Given the description of an element on the screen output the (x, y) to click on. 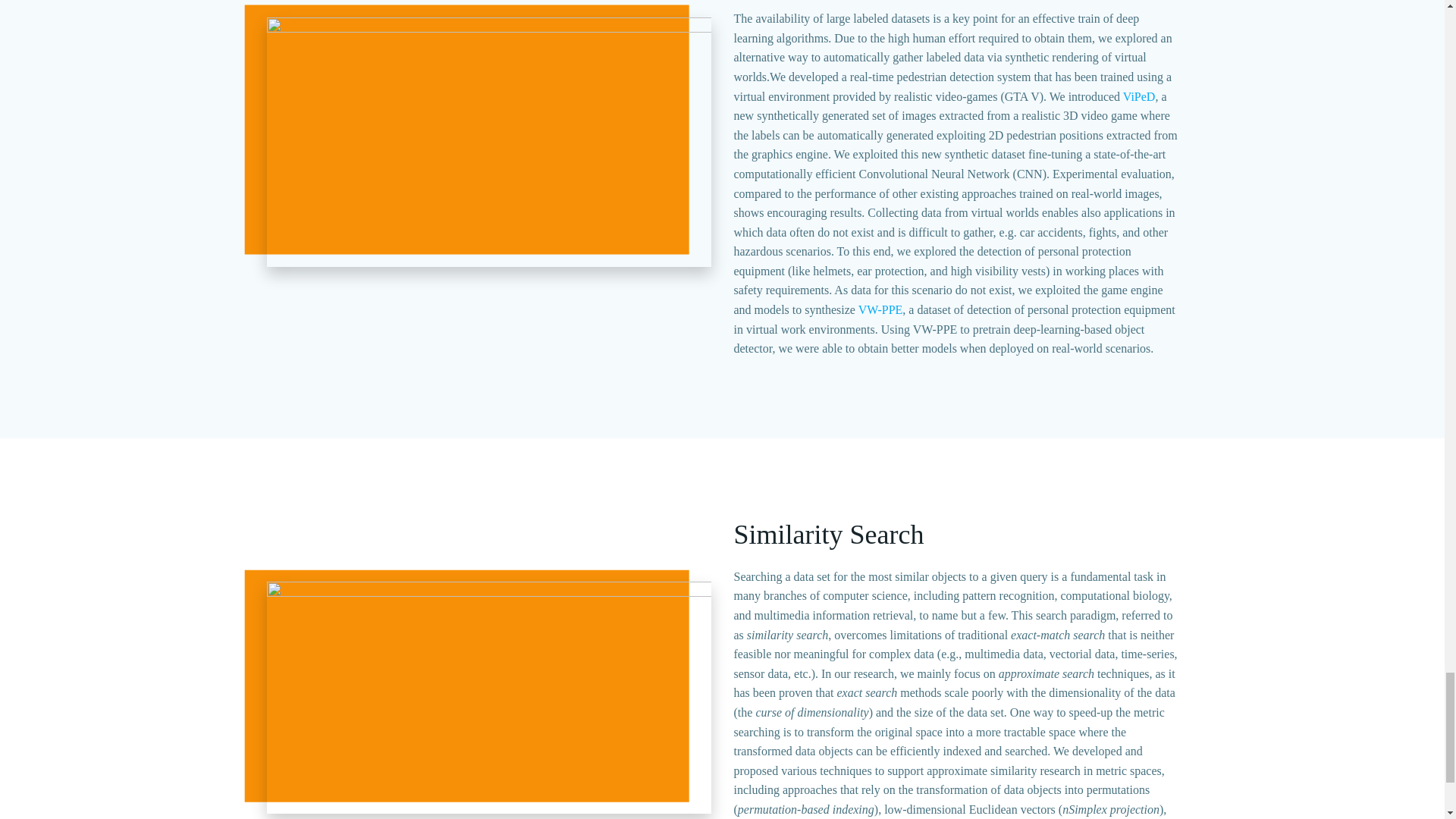
ViPeD (1139, 96)
VW-PPE (880, 309)
